Given the description of an element on the screen output the (x, y) to click on. 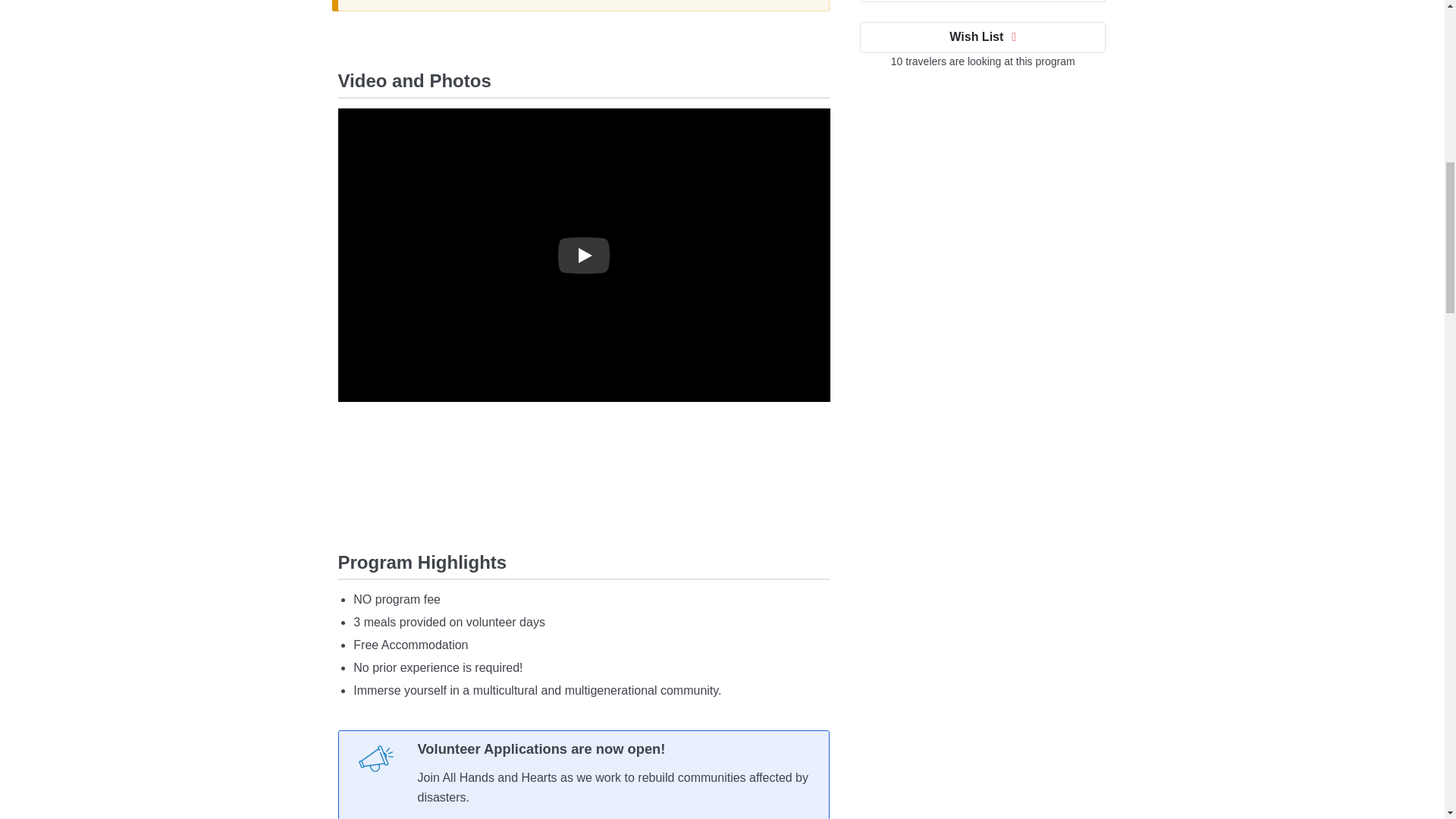
Play Video (583, 254)
Add this program to your wish list. (982, 36)
